Given the description of an element on the screen output the (x, y) to click on. 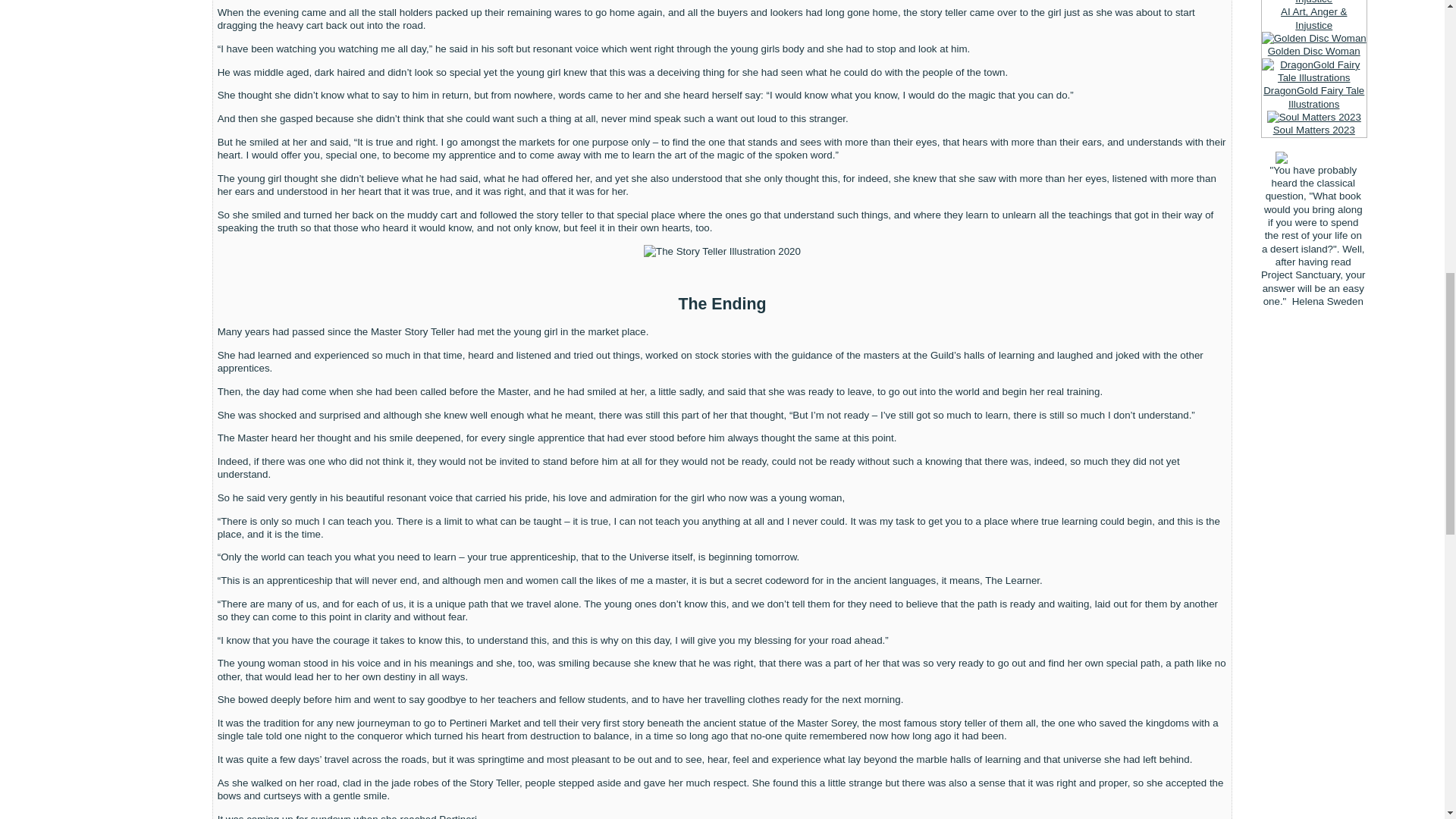
Golden Disc Woman (1314, 38)
DragonGold Fairy Tale Illustrations (1314, 71)
Story Teller 2020 by Silvia Hartmann (721, 250)
